Given the description of an element on the screen output the (x, y) to click on. 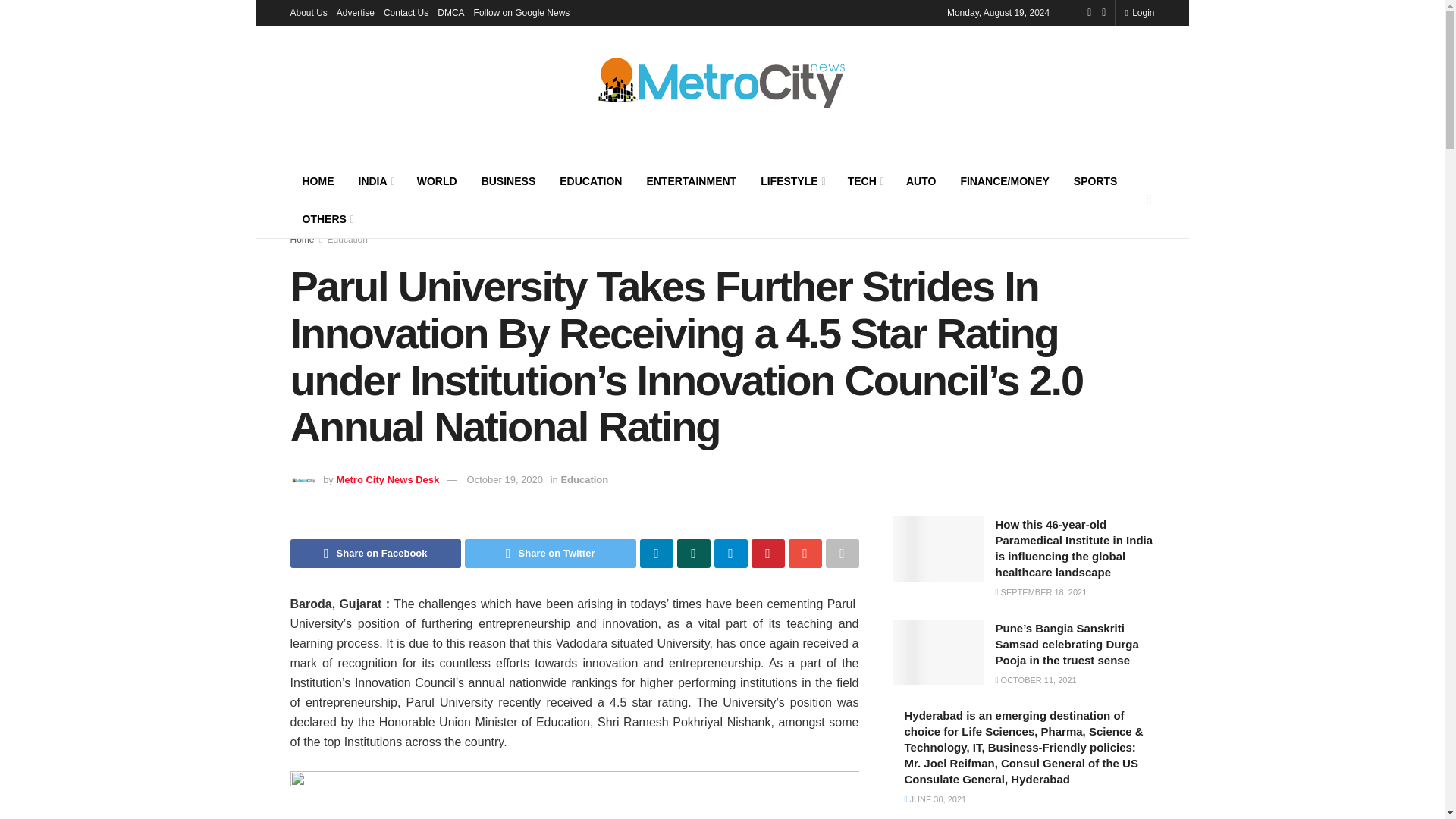
DMCA (451, 12)
ENTERTAINMENT (690, 180)
OTHERS (325, 218)
BUSINESS (508, 180)
AUTO (920, 180)
Advertise (355, 12)
TECH (864, 180)
SPORTS (1095, 180)
Login (1139, 12)
EDUCATION (590, 180)
